Given the description of an element on the screen output the (x, y) to click on. 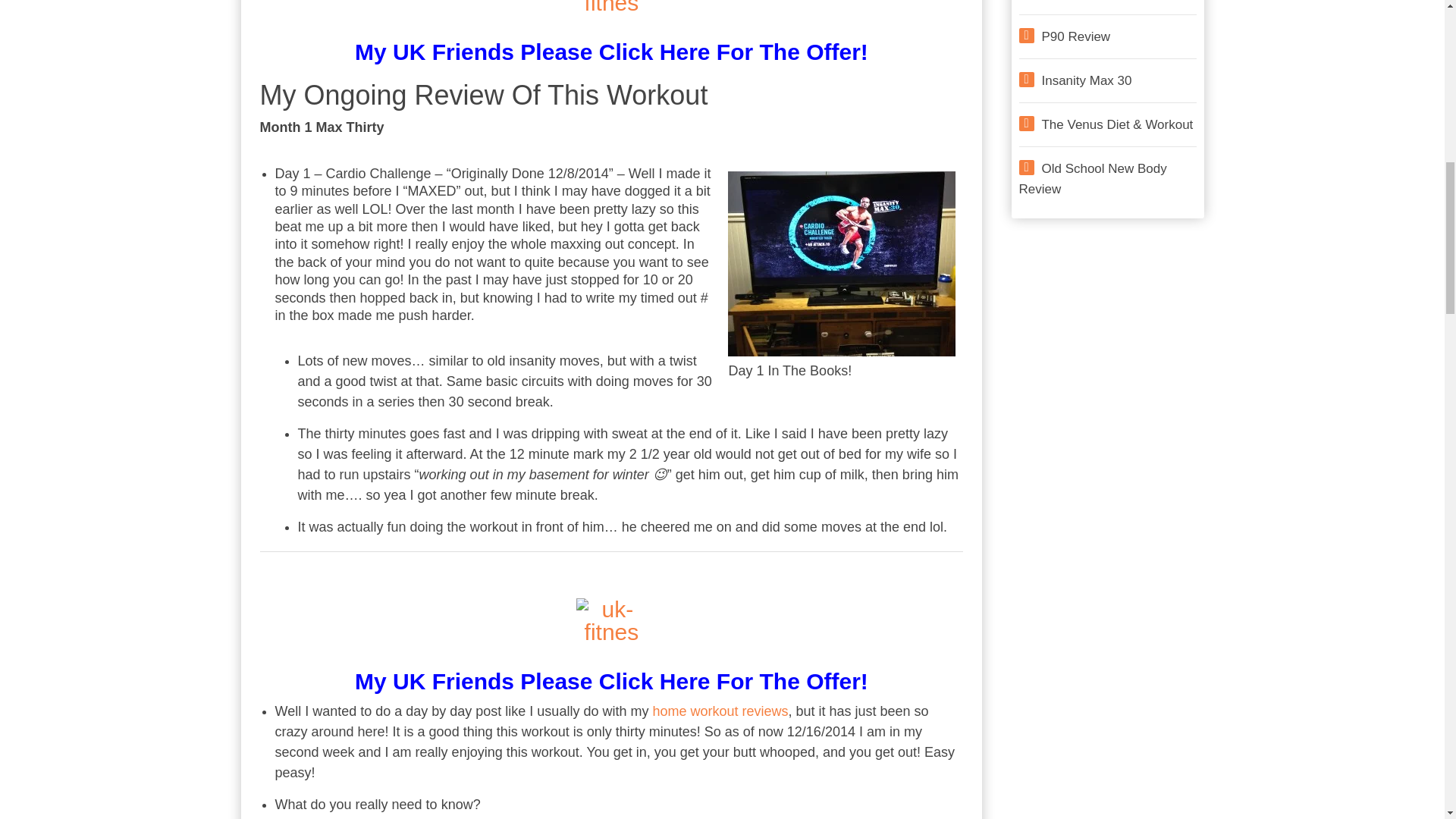
P90 Workout Reviews (1076, 36)
My UK Friends Please Click Here For The Offer! (610, 661)
home workout reviews (719, 711)
My UK Friends Please Click Here For The Offer! (610, 48)
